Given the description of an element on the screen output the (x, y) to click on. 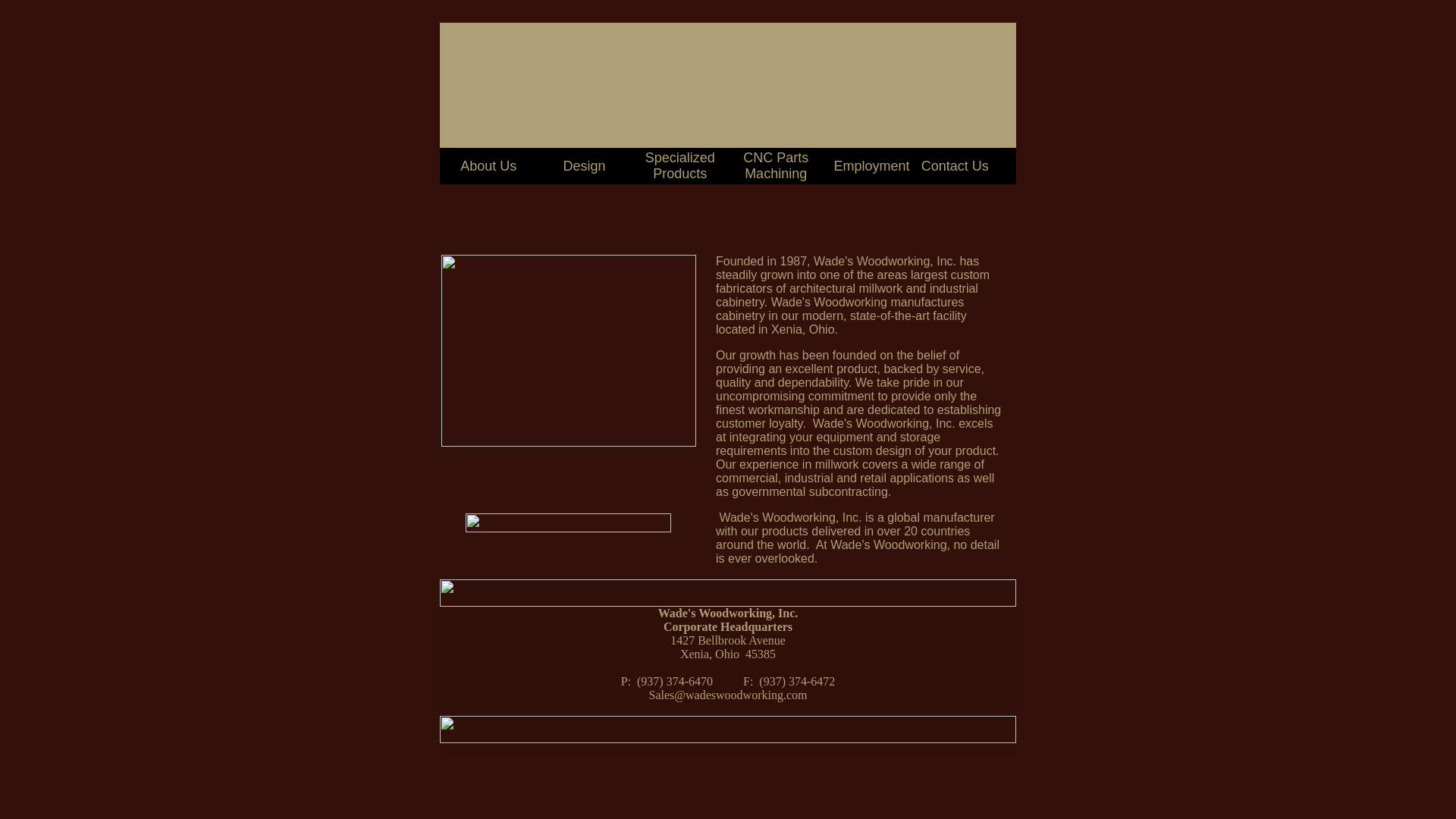
About Us (488, 165)
Contact Us (954, 165)
Specialized Products (679, 165)
CNC Parts Machining (775, 165)
Employment (870, 165)
Design (583, 165)
